Given the description of an element on the screen output the (x, y) to click on. 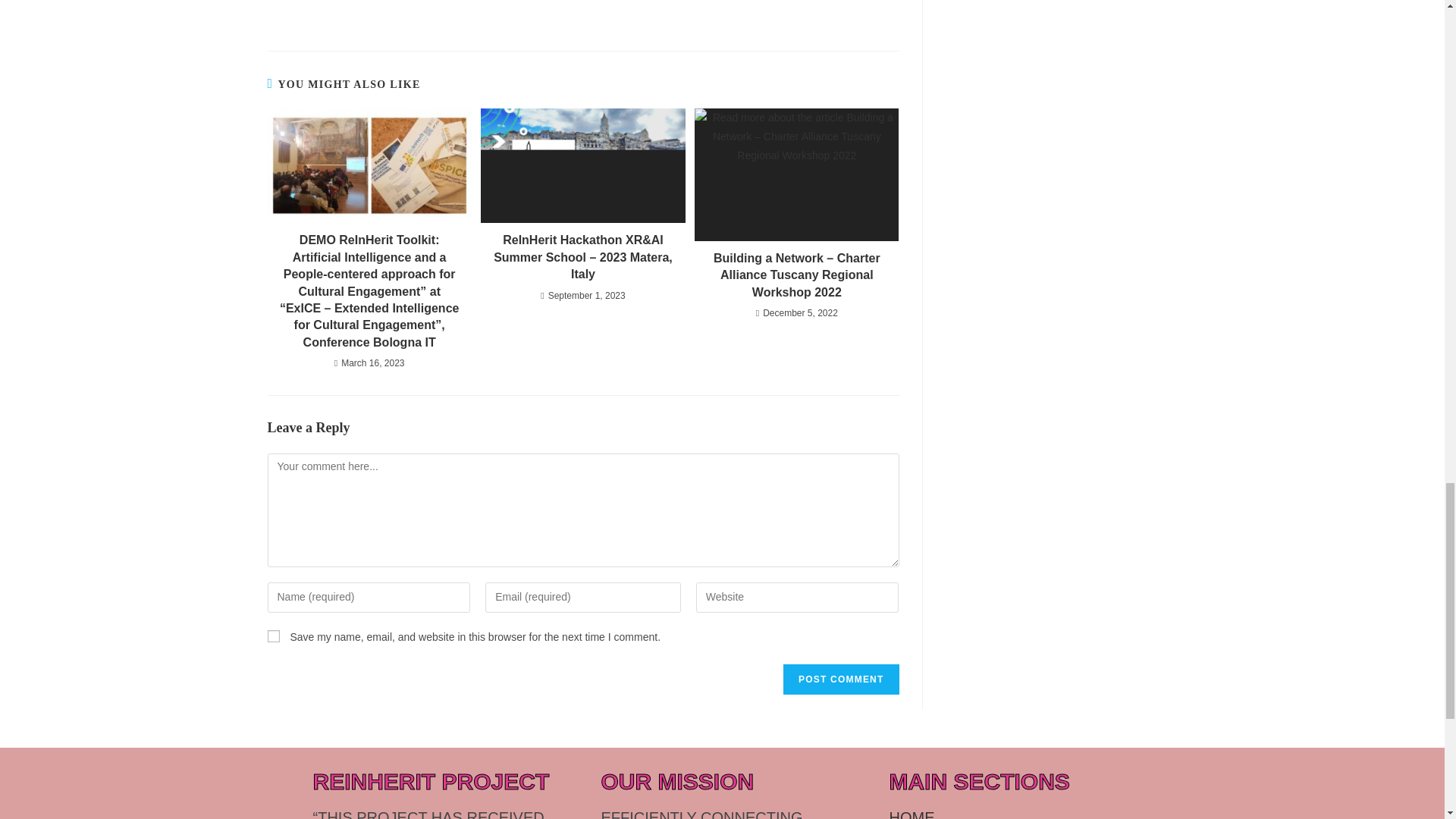
Post Comment (840, 679)
Post Comment (840, 679)
yes (272, 635)
